Given the description of an element on the screen output the (x, y) to click on. 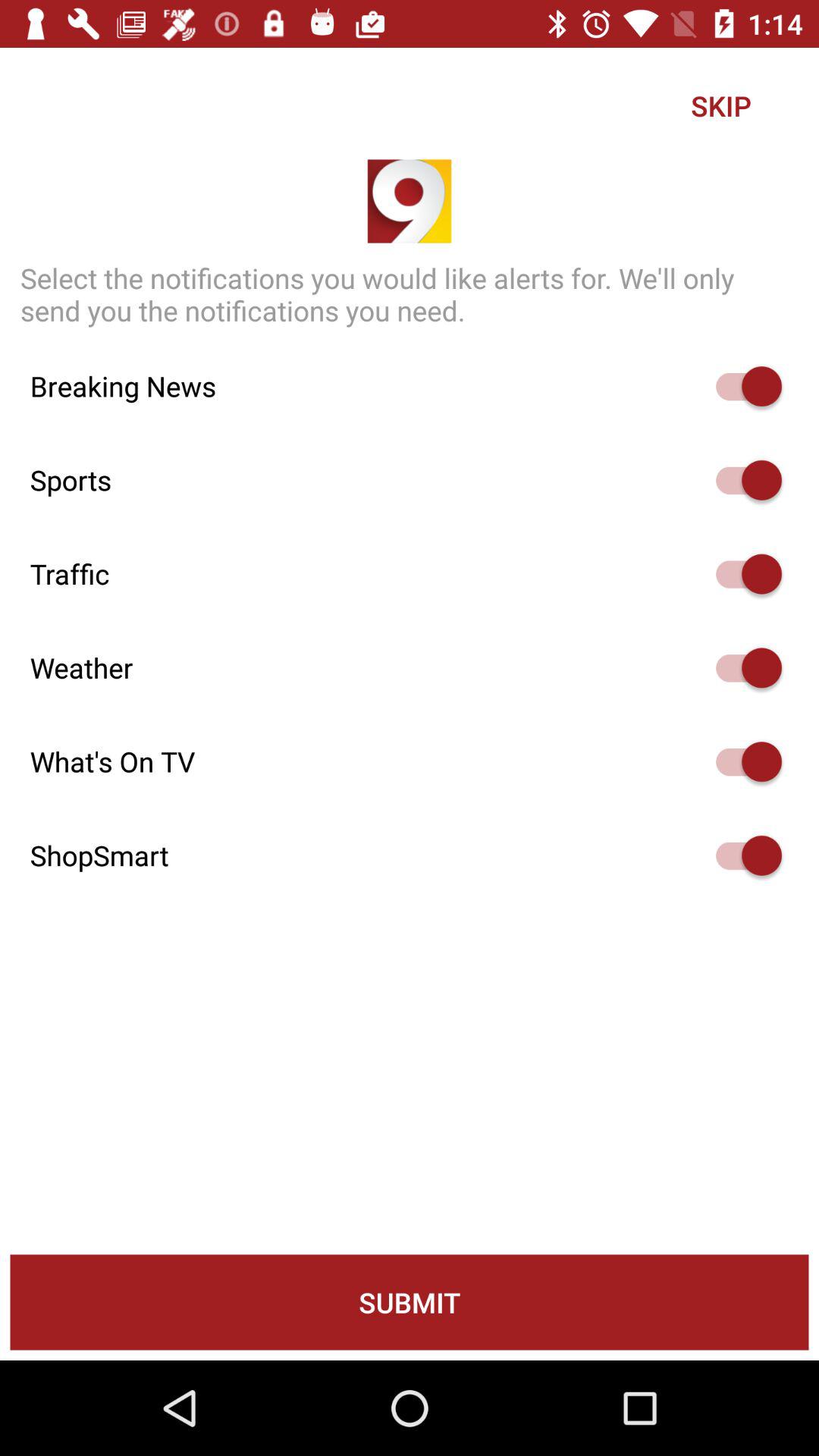
show traffic slider (741, 574)
